Given the description of an element on the screen output the (x, y) to click on. 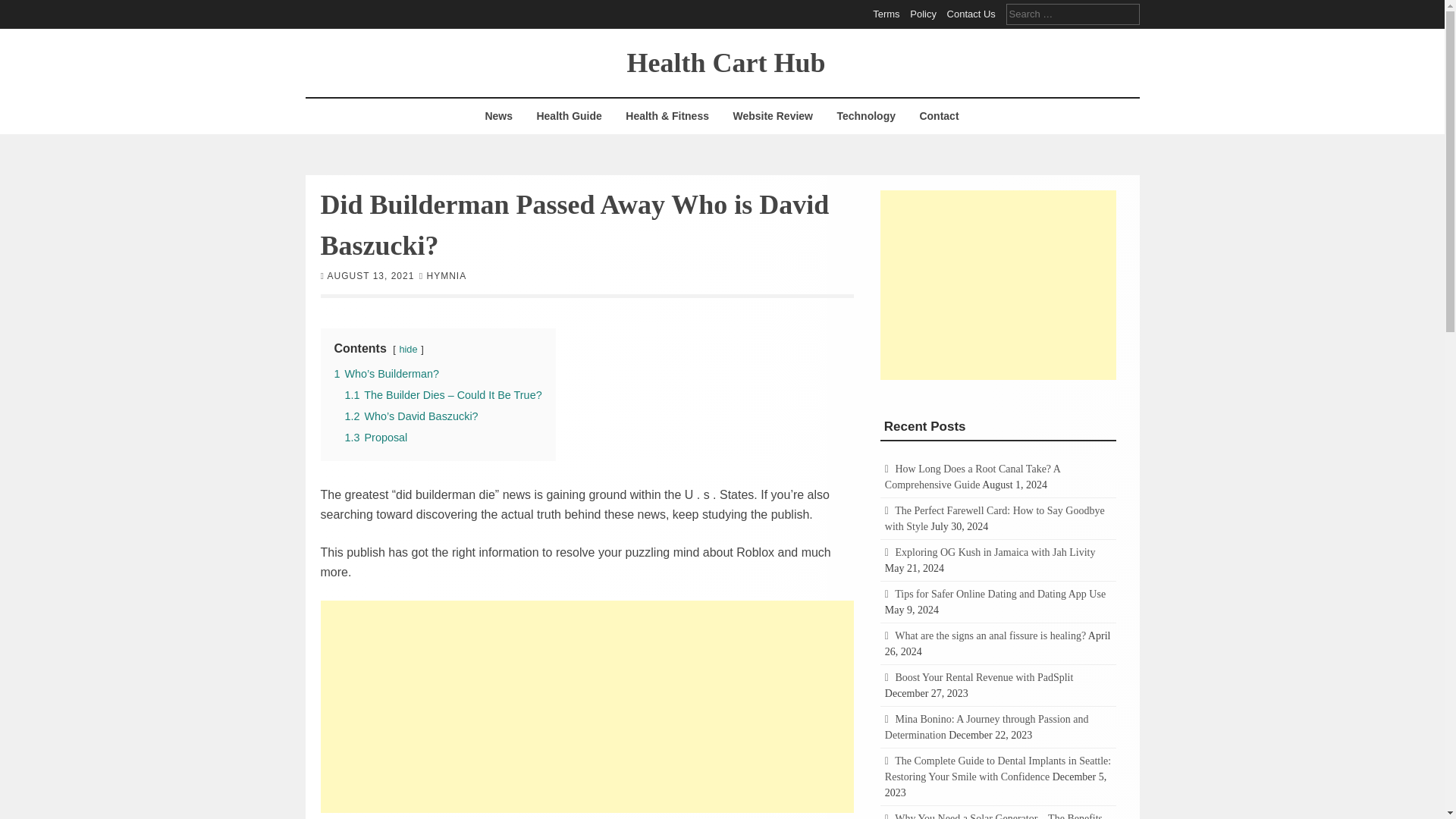
Terms (885, 13)
Health Cart Hub (725, 61)
Advertisement (586, 706)
Technology (866, 116)
AUGUST 13, 2021 (370, 275)
How Long Does a Root Canal Take? A Comprehensive Guide (972, 476)
Mina Bonino: A Journey through Passion and Determination (987, 727)
HYMNIA (445, 275)
Website Review (772, 116)
